Given the description of an element on the screen output the (x, y) to click on. 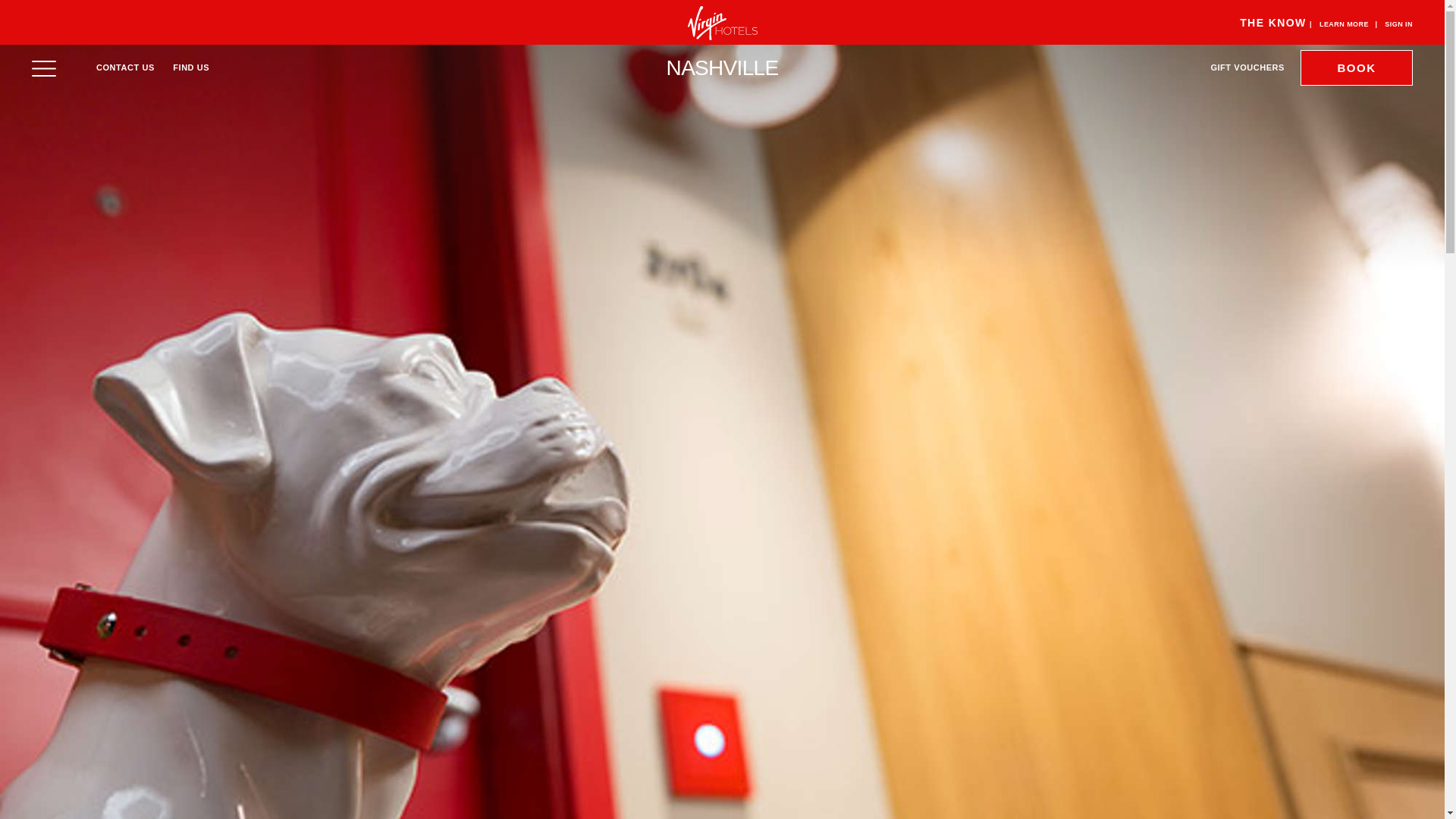
NASHVILLE (722, 67)
GIFT VOUCHERS (1246, 67)
CONTACT US (125, 67)
LEARN MORE (1343, 23)
SIGN IN (1398, 23)
FIND US (191, 67)
